Given the description of an element on the screen output the (x, y) to click on. 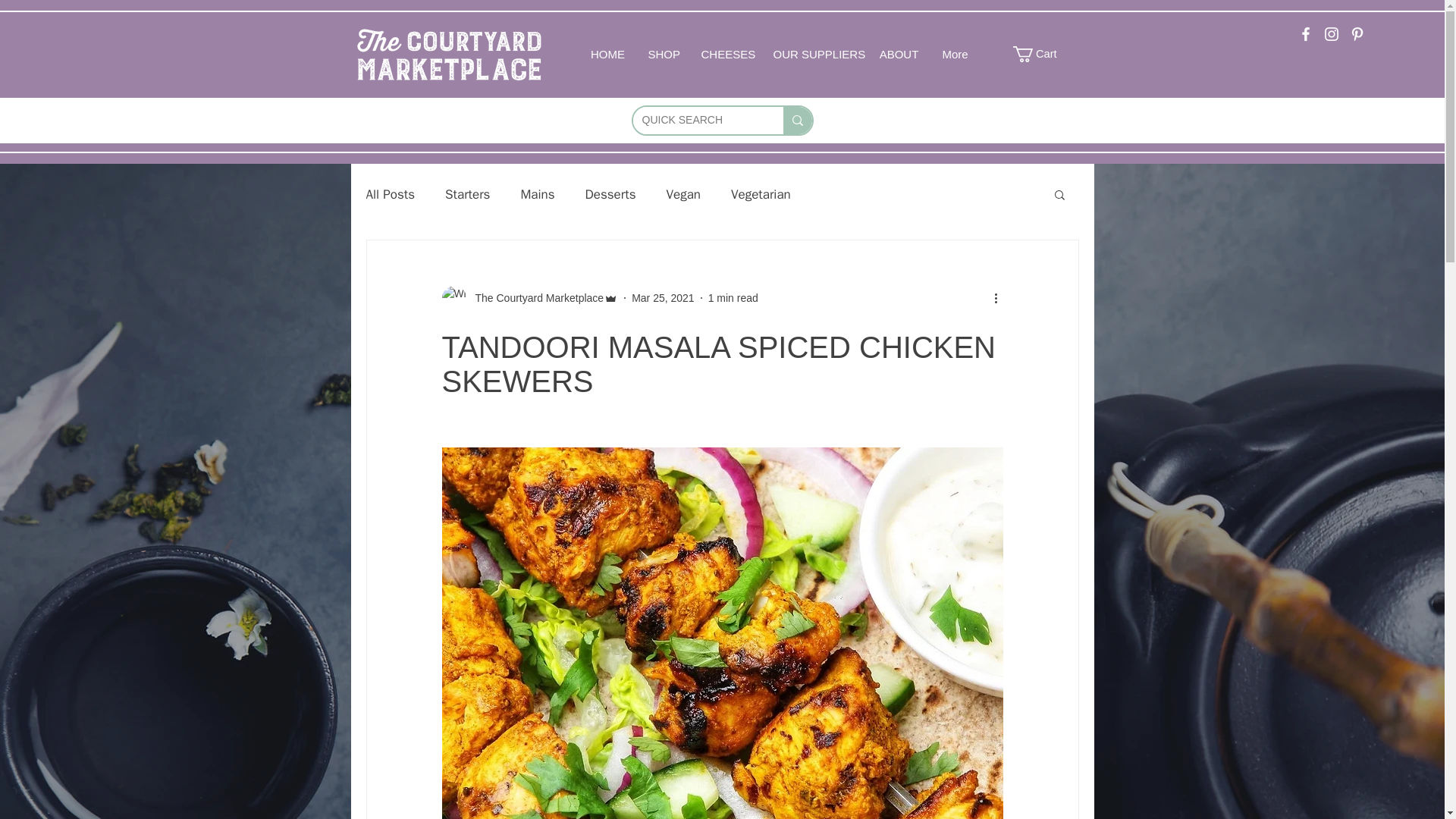
Desserts (610, 193)
Mar 25, 2021 (662, 297)
Mains (536, 193)
The Courtyard Marketplace (534, 297)
CHEESES (725, 54)
Vegetarian (760, 193)
1 min read (732, 297)
The Courtyard Marketplace (529, 297)
All Posts (389, 193)
ABOUT (898, 54)
